Given the description of an element on the screen output the (x, y) to click on. 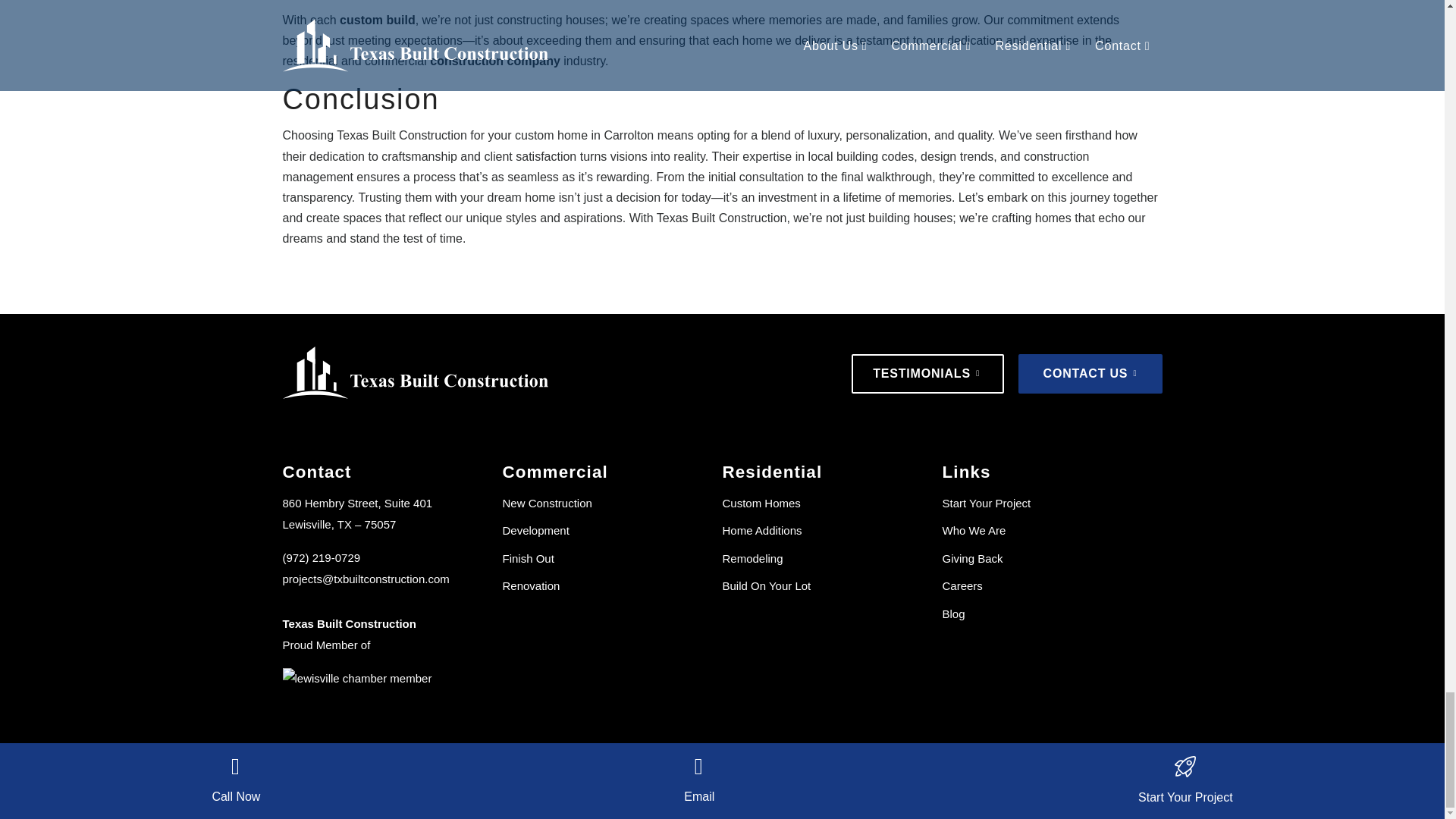
New Construction (546, 502)
Careers (961, 585)
Renovation (530, 585)
Finish Out (527, 558)
Who We Are (974, 530)
TESTIMONIALS (927, 373)
CONTACT US (1089, 373)
Custom Homes (760, 502)
Development (535, 530)
Build On Your Lot (766, 585)
Home Additions (762, 530)
Giving Back (972, 558)
Remodeling (752, 558)
Start Your Project (986, 502)
